Given the description of an element on the screen output the (x, y) to click on. 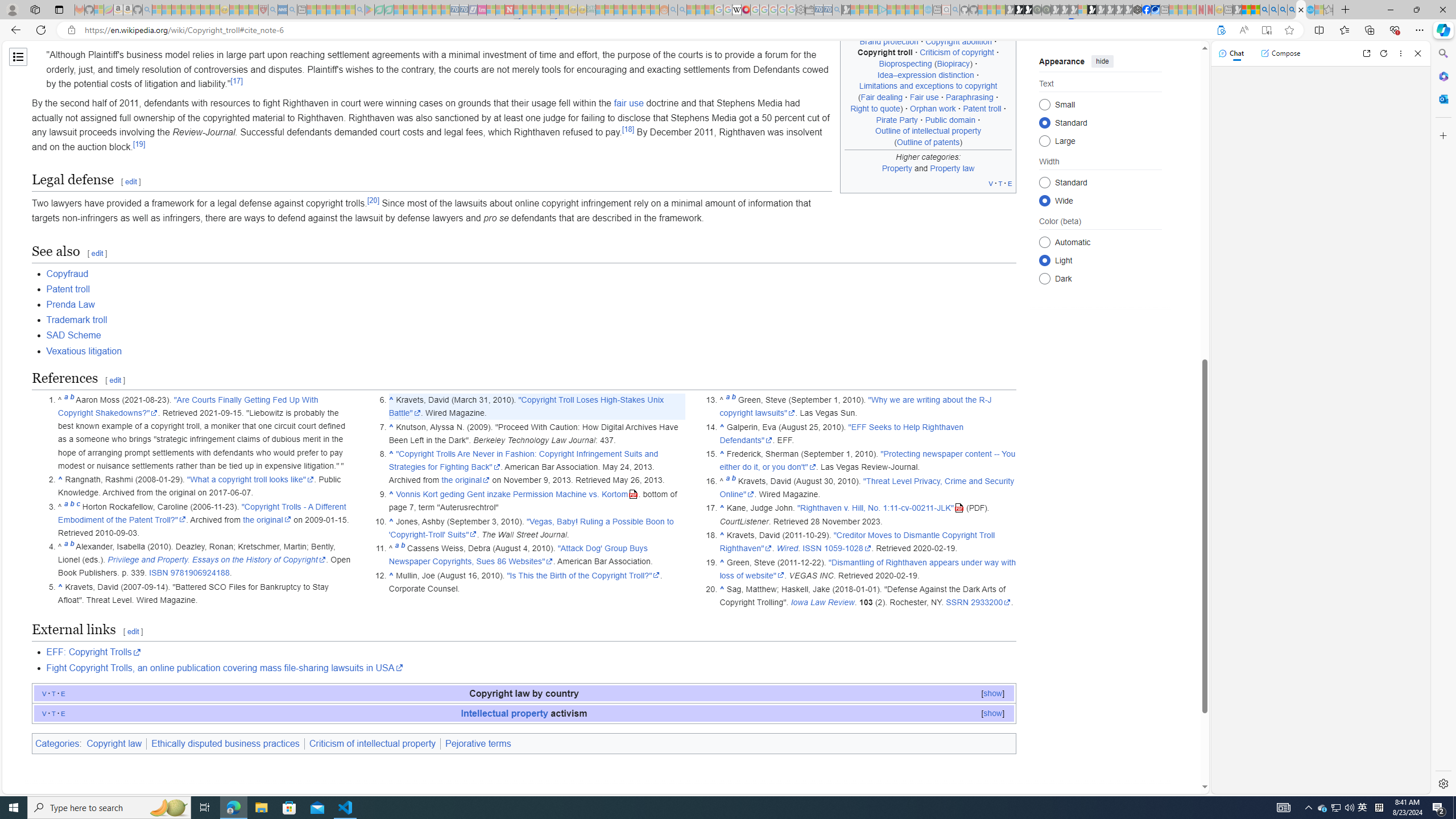
Local - MSN - Sleeping (253, 9)
Target page - Wikipedia (736, 9)
Standard (1044, 182)
Criticism of intellectual property (372, 742)
Trademark troll (76, 320)
The Weather Channel - MSN - Sleeping (175, 9)
Recipes - MSN - Sleeping (234, 9)
